Given the description of an element on the screen output the (x, y) to click on. 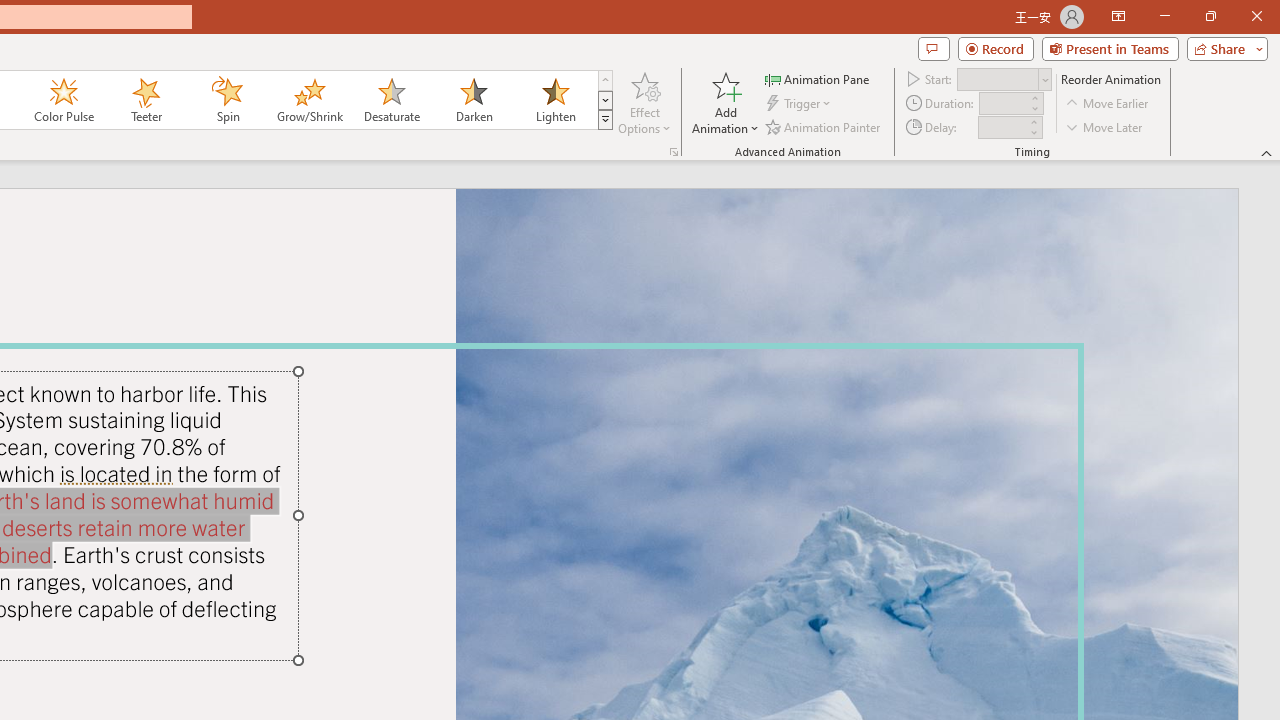
More Options... (673, 151)
Trigger (799, 103)
Darken (473, 100)
Add Animation (725, 102)
Teeter (145, 100)
Animation Delay (1002, 127)
